Given the description of an element on the screen output the (x, y) to click on. 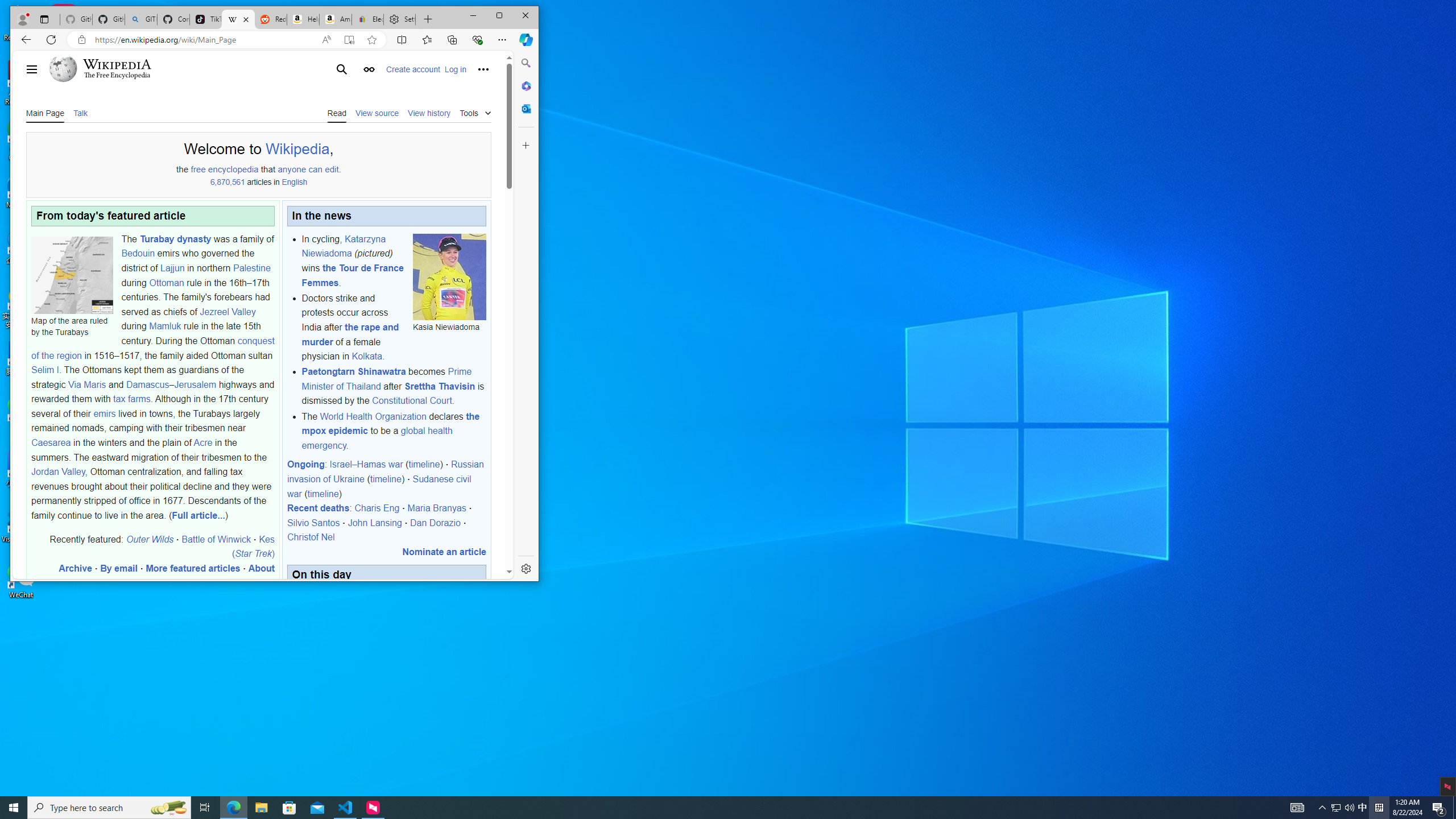
Nominate an article (443, 551)
By email (119, 568)
Q2790: 100% (1349, 807)
Recent deaths (317, 508)
More featured articles (192, 568)
Jezreel Valley (227, 311)
the Tour de France Femmes (352, 274)
Wikipedia The Free Encyclopedia (111, 68)
